Given the description of an element on the screen output the (x, y) to click on. 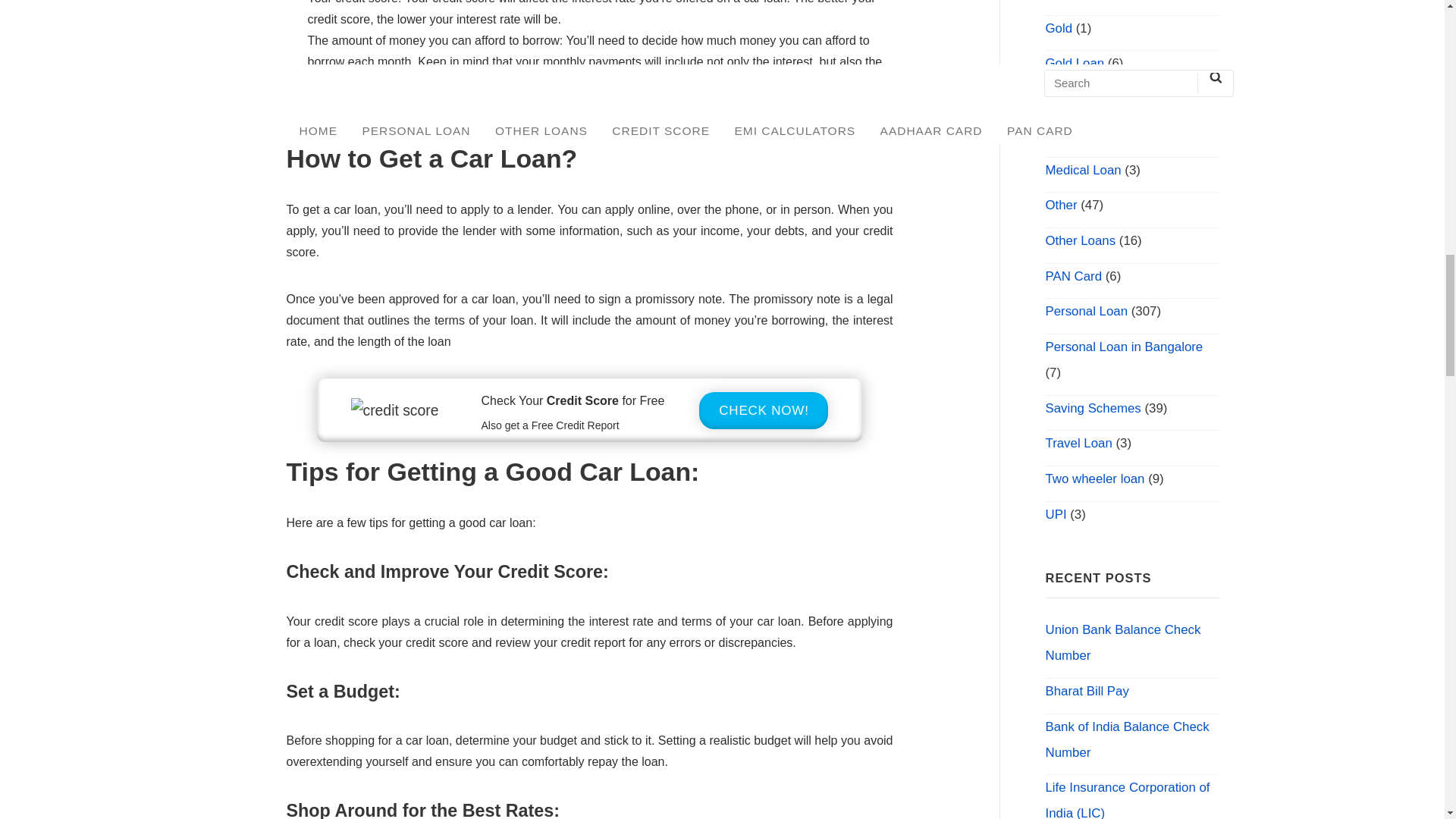
CHECK NOW! (763, 410)
